Given the description of an element on the screen output the (x, y) to click on. 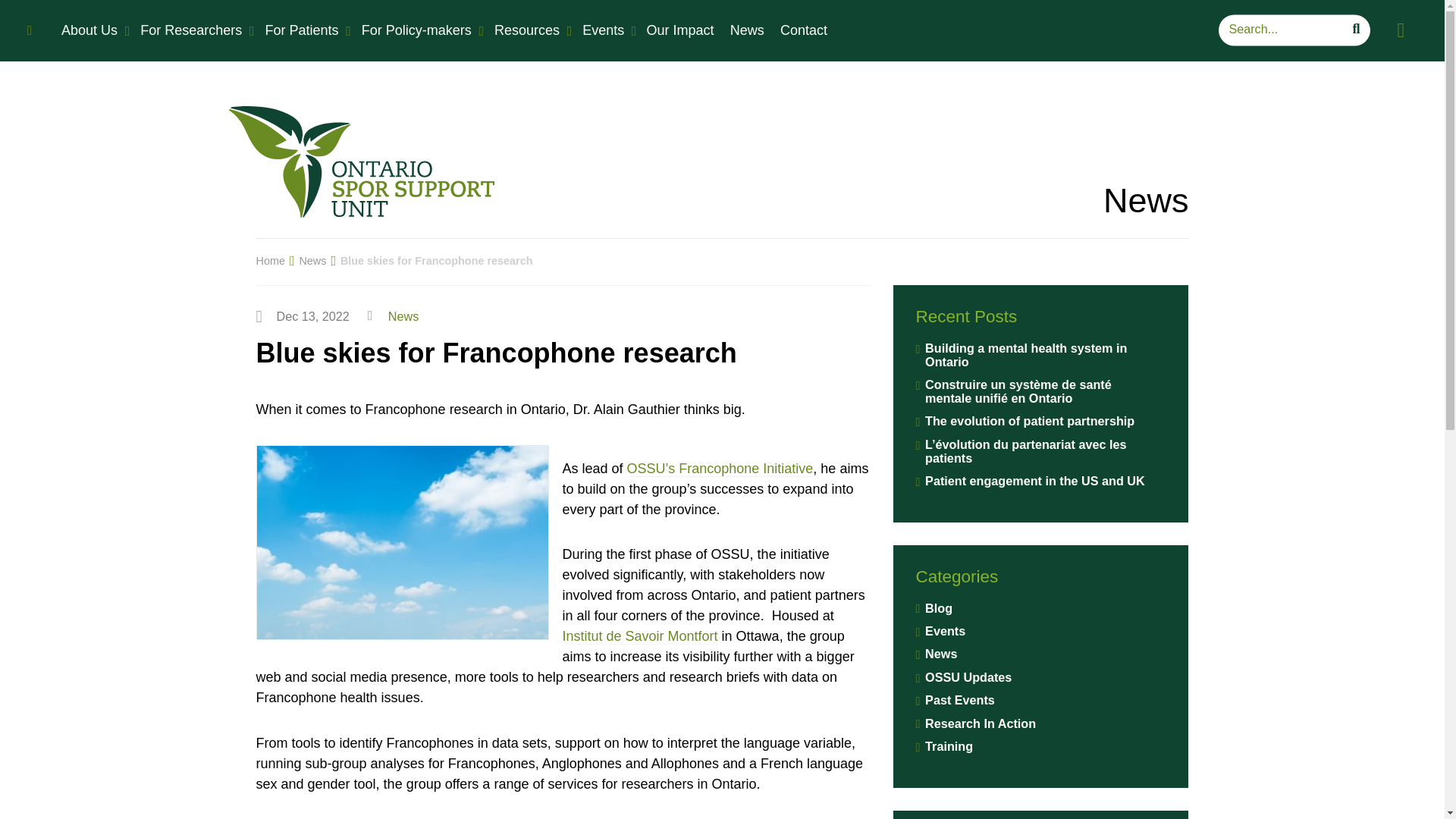
About Us (92, 30)
For Researchers (193, 30)
For Patients (303, 30)
Resources (529, 30)
Ontario SPOR SUPPORT Unit (361, 161)
For Policy-makers (419, 30)
Search (1286, 29)
Events (605, 30)
